Given the description of an element on the screen output the (x, y) to click on. 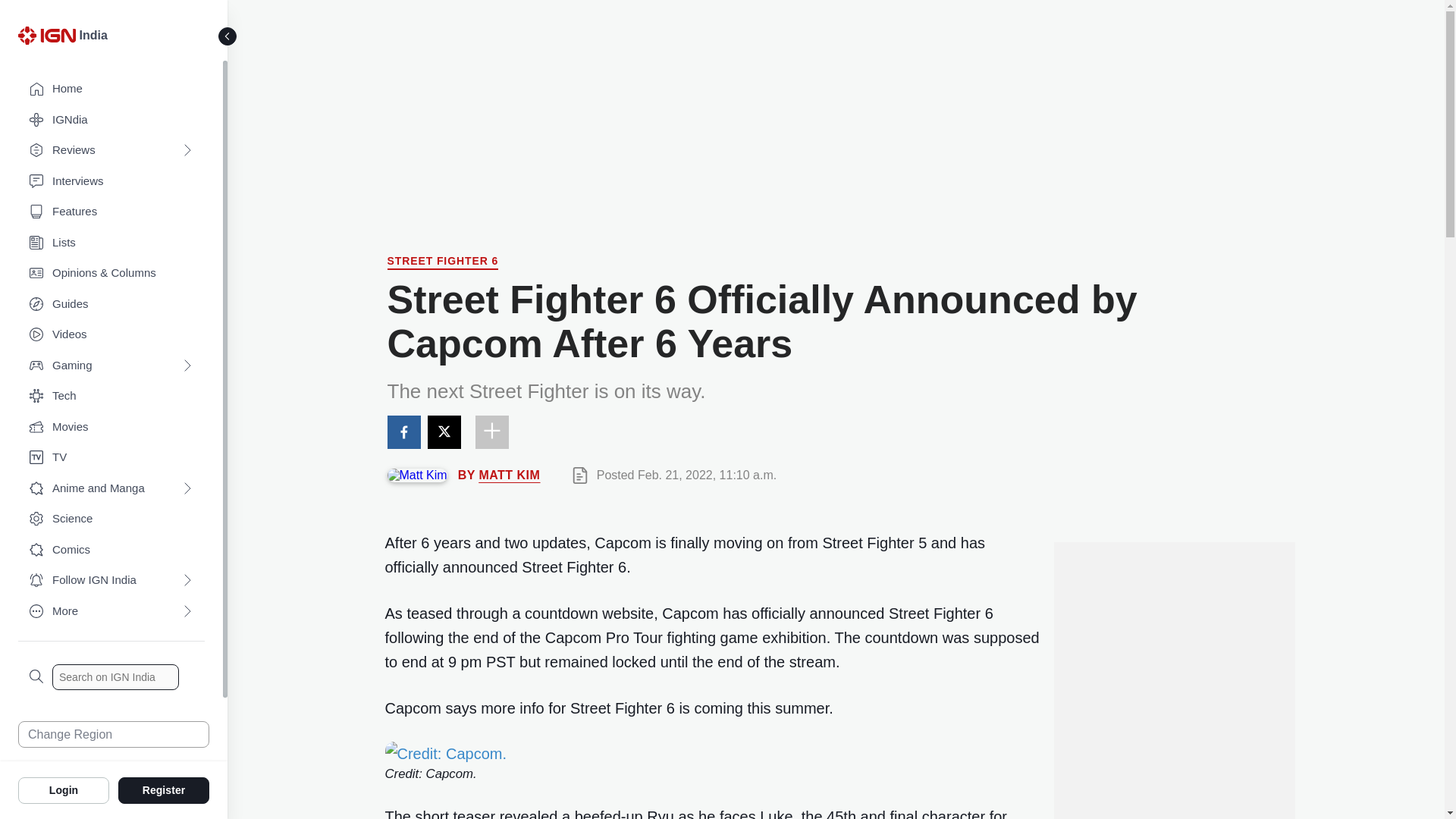
Reviews (111, 150)
Movies (111, 427)
Anime and Manga (111, 487)
Tech (111, 396)
Toggle Sidebar (226, 36)
Comics (111, 550)
Street Fighter 6 (442, 262)
Interviews (111, 181)
TV (111, 457)
IGNdia (111, 119)
Gaming (111, 365)
Videos (111, 334)
IGN Logo (48, 39)
Home (111, 89)
More (111, 610)
